Given the description of an element on the screen output the (x, y) to click on. 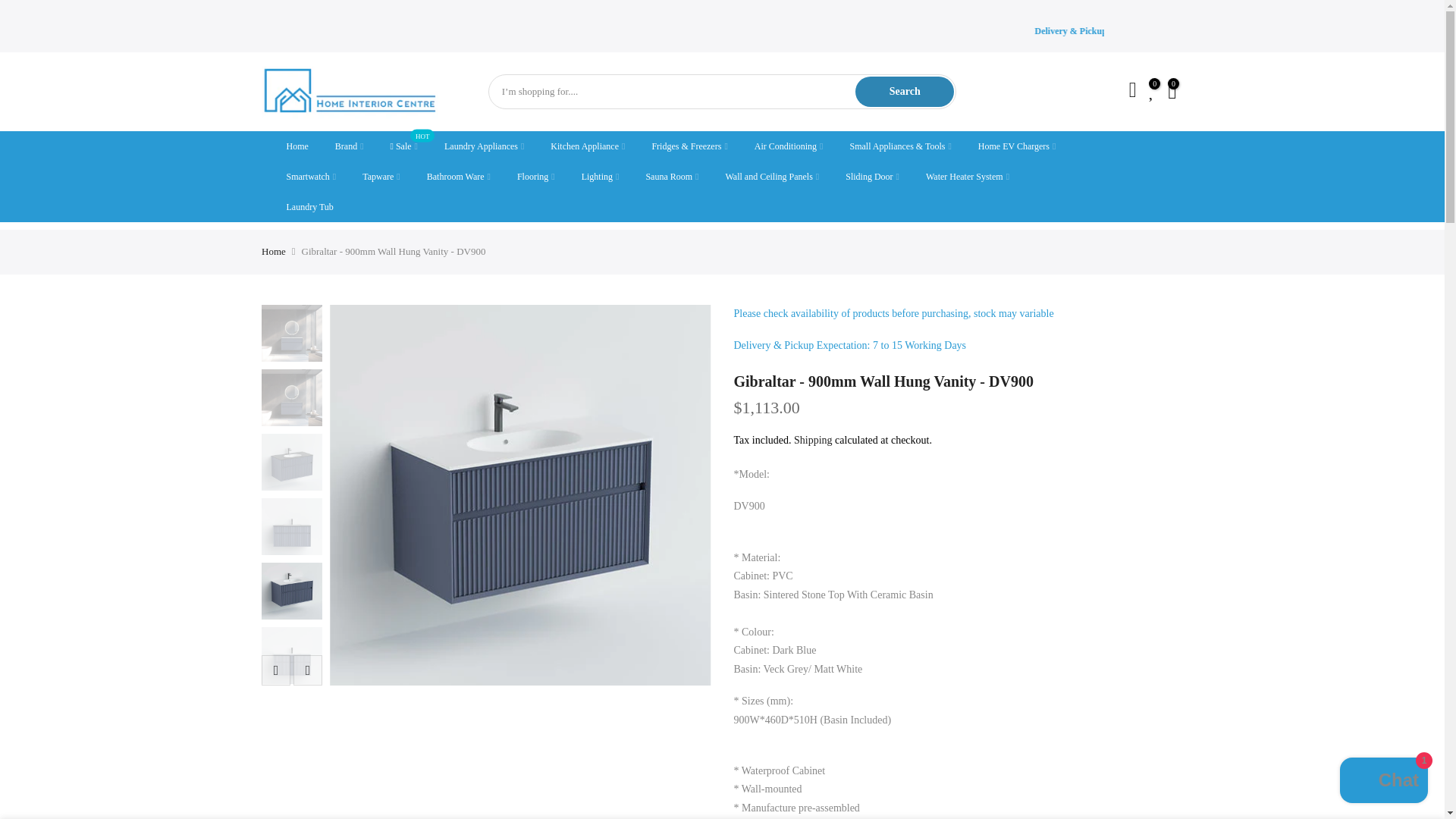
Lighting (599, 176)
Brand (349, 146)
Kitchen Appliance (588, 146)
Bathroom Ware (458, 176)
Sauna Room (671, 176)
Home (273, 251)
Sliding Door (872, 176)
Smartwatch (311, 176)
Search (904, 91)
Laundry Appliances (483, 146)
Home (297, 146)
Laundry Tub (309, 206)
Tapware (381, 176)
Wall and Ceiling Panels (771, 176)
Water Heater System (967, 176)
